Given the description of an element on the screen output the (x, y) to click on. 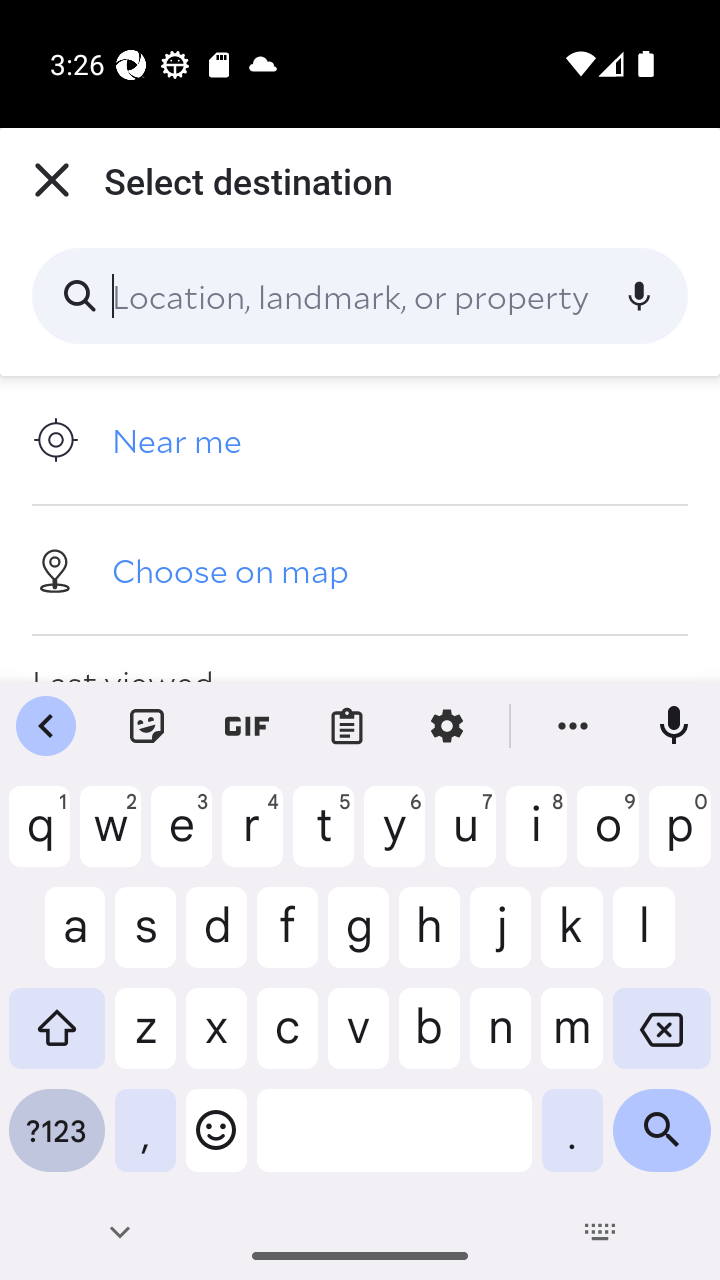
Location, landmark, or property (359, 296)
Near me (360, 440)
Choose on map (360, 569)
